Given the description of an element on the screen output the (x, y) to click on. 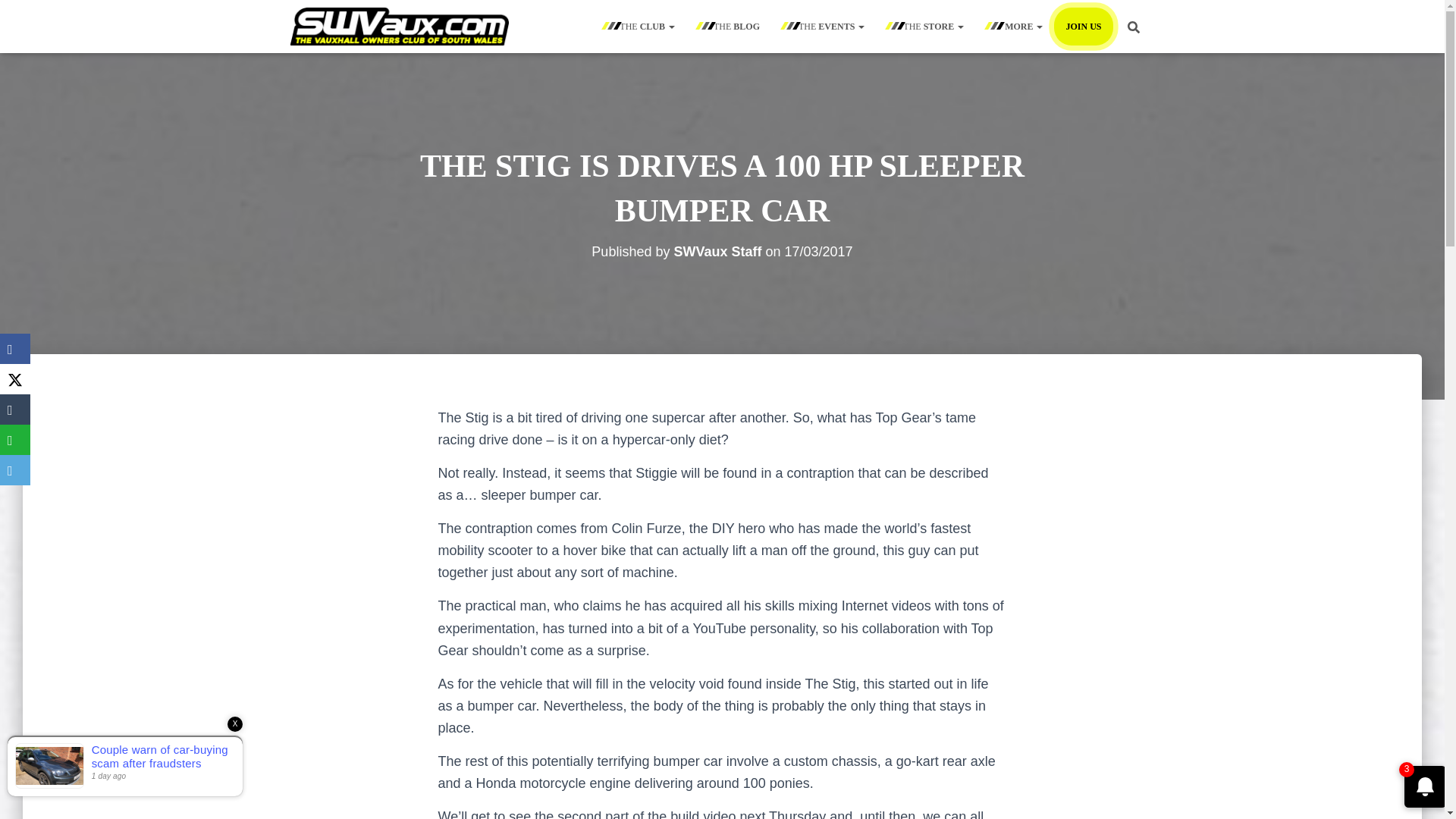
The Club (638, 26)
THE CLUB (638, 26)
THE STORE (925, 26)
SWVaux.com (399, 26)
The Store (925, 26)
THE BLOG (728, 26)
MORE (1014, 26)
SWVaux Staff (716, 251)
MORE (1014, 26)
THE EVENTS (823, 26)
The Events (823, 26)
JOIN US (1083, 26)
The Blog (728, 26)
